Given the description of an element on the screen output the (x, y) to click on. 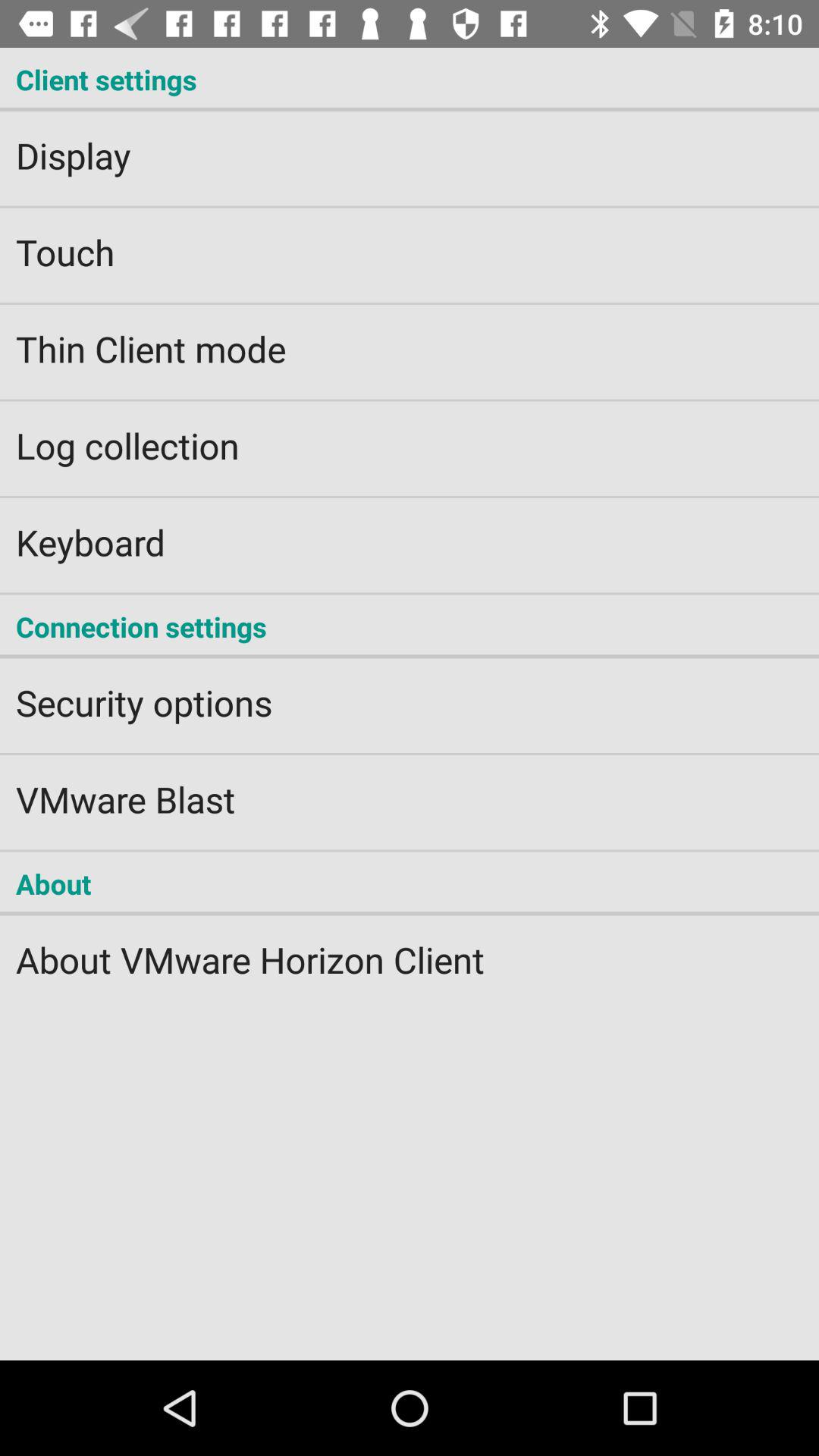
press vmware blast app (409, 789)
